Given the description of an element on the screen output the (x, y) to click on. 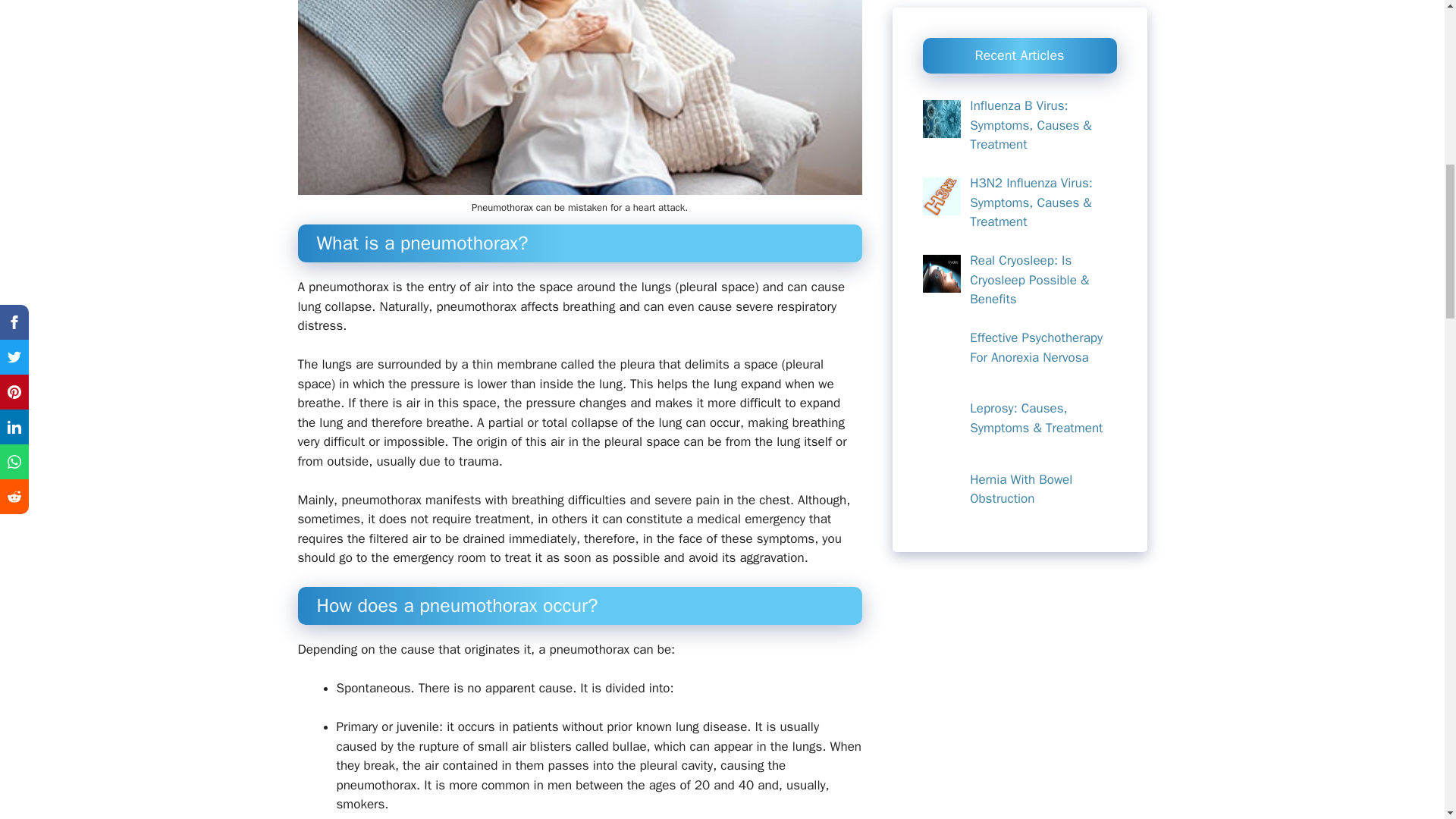
Scroll back to top (1406, 720)
Pneumothorax can be mistaken for a heart attack. (579, 97)
